Given the description of an element on the screen output the (x, y) to click on. 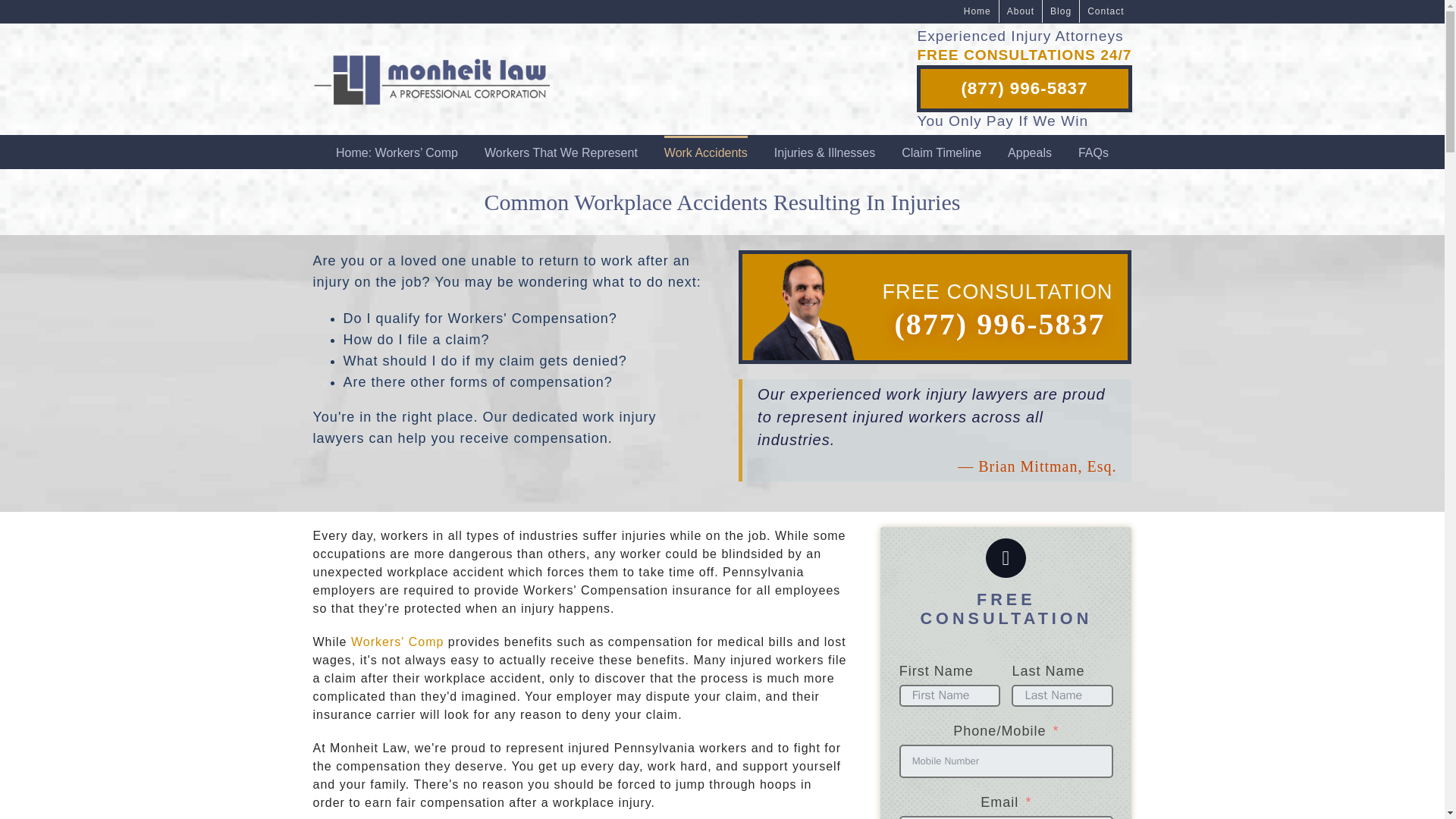
Blog (1060, 11)
Home (977, 11)
Work Accidents (705, 151)
Contact (1105, 11)
Workers That We Represent (560, 151)
About (1020, 11)
